Given the description of an element on the screen output the (x, y) to click on. 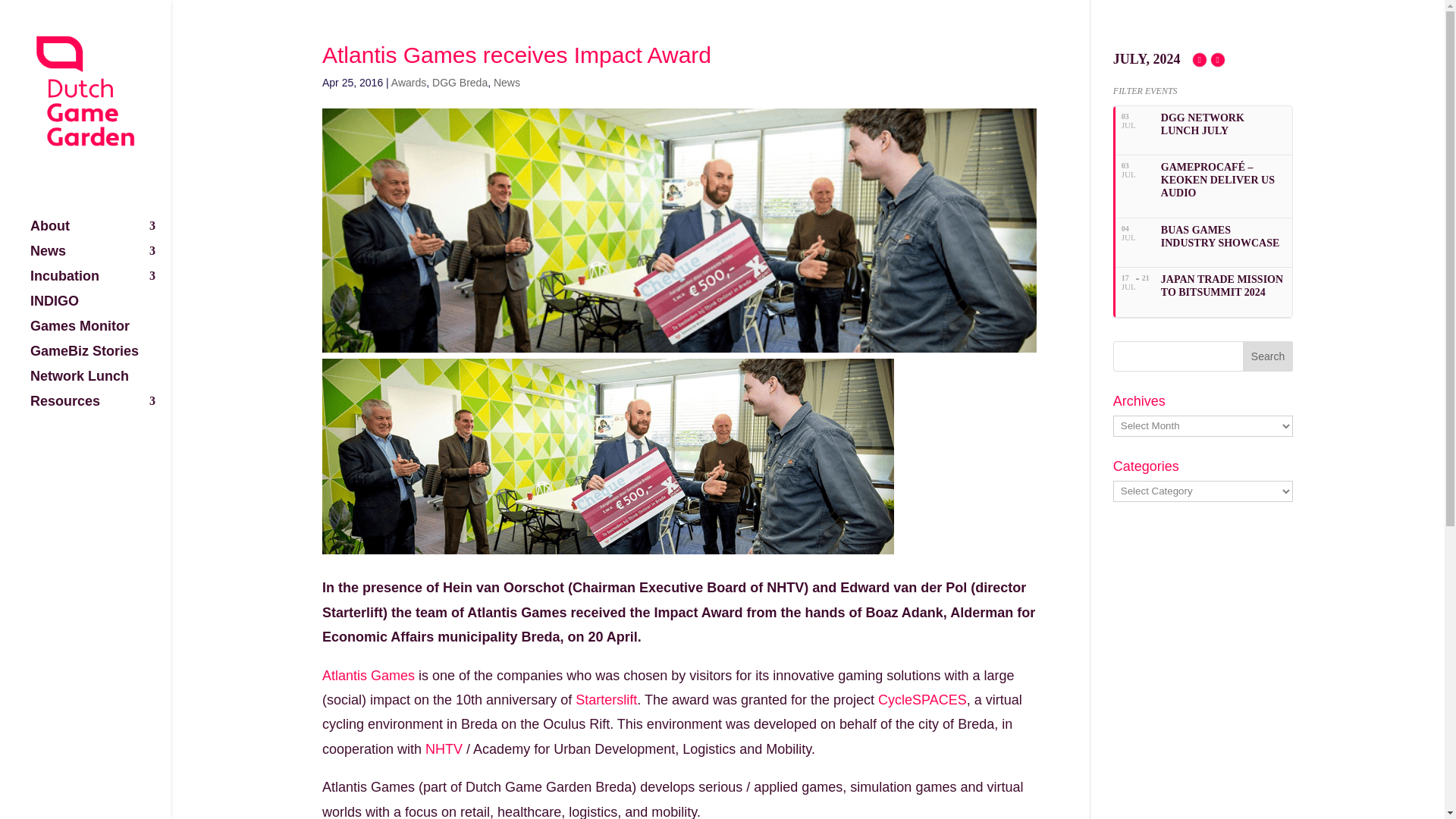
INDIGO (100, 308)
Games Monitor (100, 333)
GameBiz Stories (100, 358)
Incubation (100, 283)
Network Lunch (100, 383)
About (100, 232)
News (100, 258)
Search (1267, 356)
Resources (100, 407)
